Given the description of an element on the screen output the (x, y) to click on. 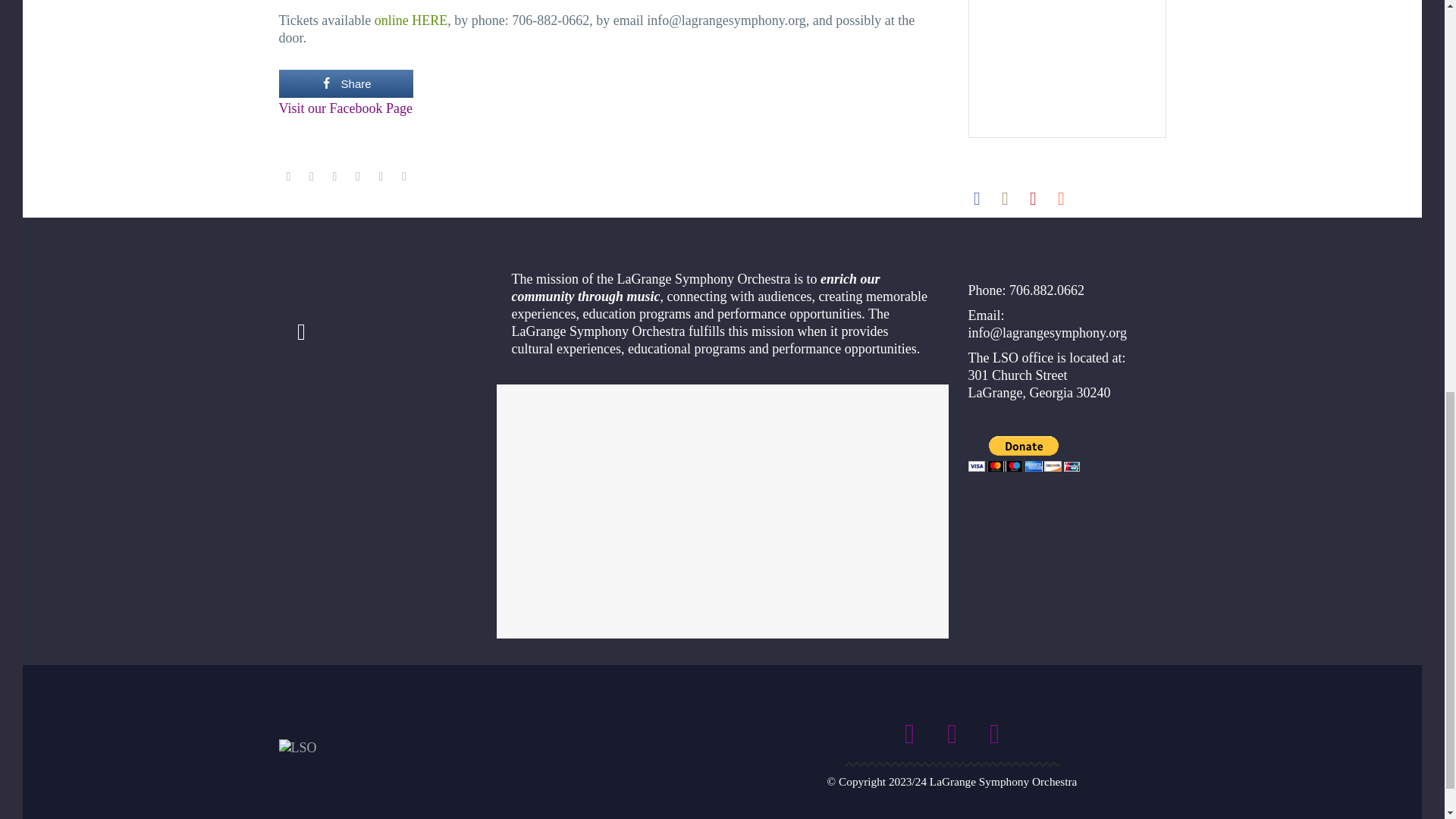
Facebook (288, 176)
Pinterest (334, 176)
online HERE (411, 20)
Reddit (403, 176)
Twitter (311, 176)
LinkedIn (380, 176)
Tumblr (358, 176)
